Given the description of an element on the screen output the (x, y) to click on. 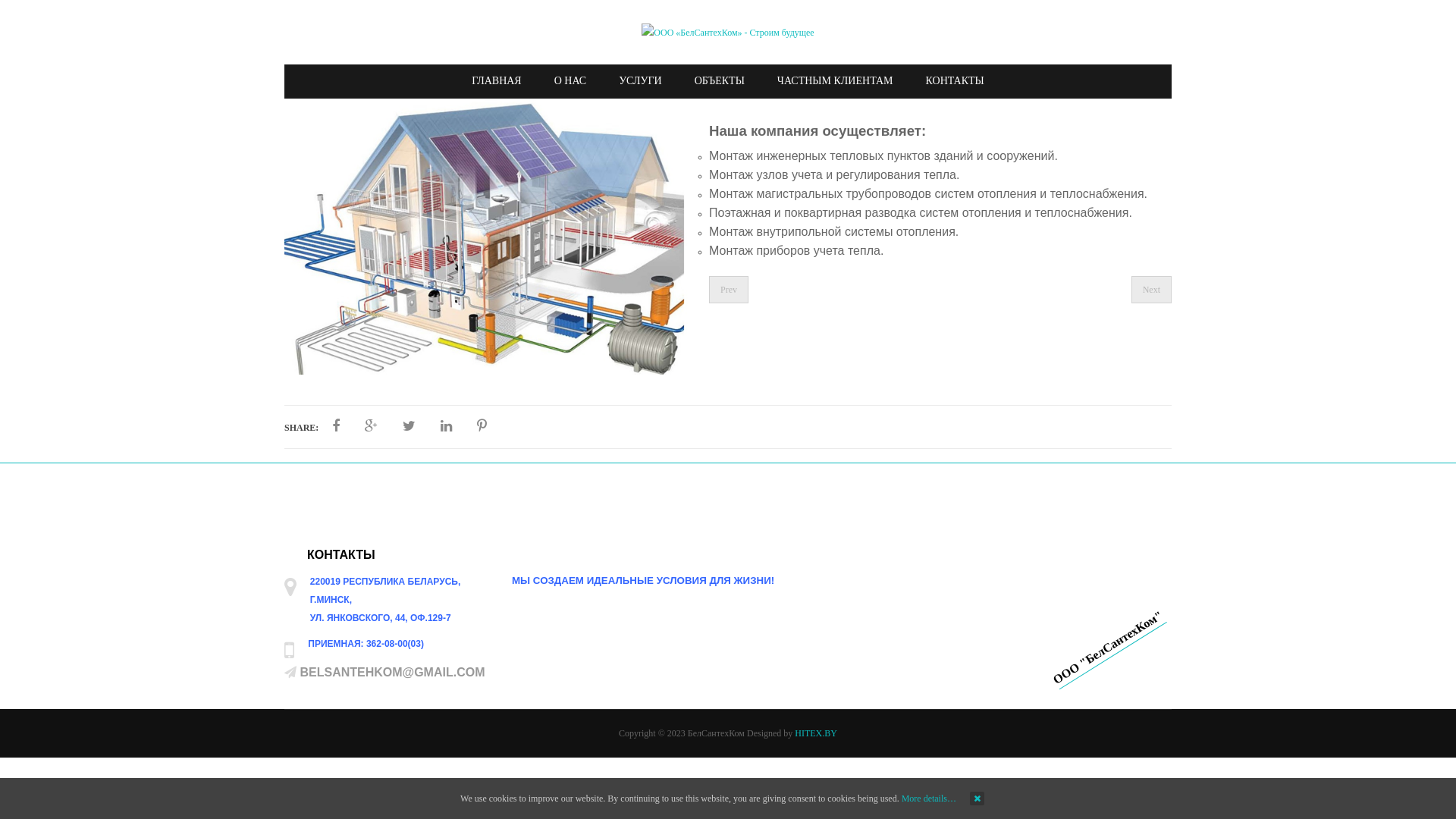
Facebook Share Element type: hover (335, 426)
Twitter Share Element type: hover (408, 426)
 BELSANTEHKOM@GMAIL.COM Element type: text (390, 671)
Next Element type: text (1151, 289)
HITEX.BY Element type: text (815, 733)
Google Plus Share Element type: hover (371, 426)
LinkedIn Share Element type: hover (446, 426)
Prev Element type: text (728, 289)
BELSANTEHKOM@GMAIL.COM Element type: text (391, 671)
Pinterest Share Element type: hover (481, 426)
